Given the description of an element on the screen output the (x, y) to click on. 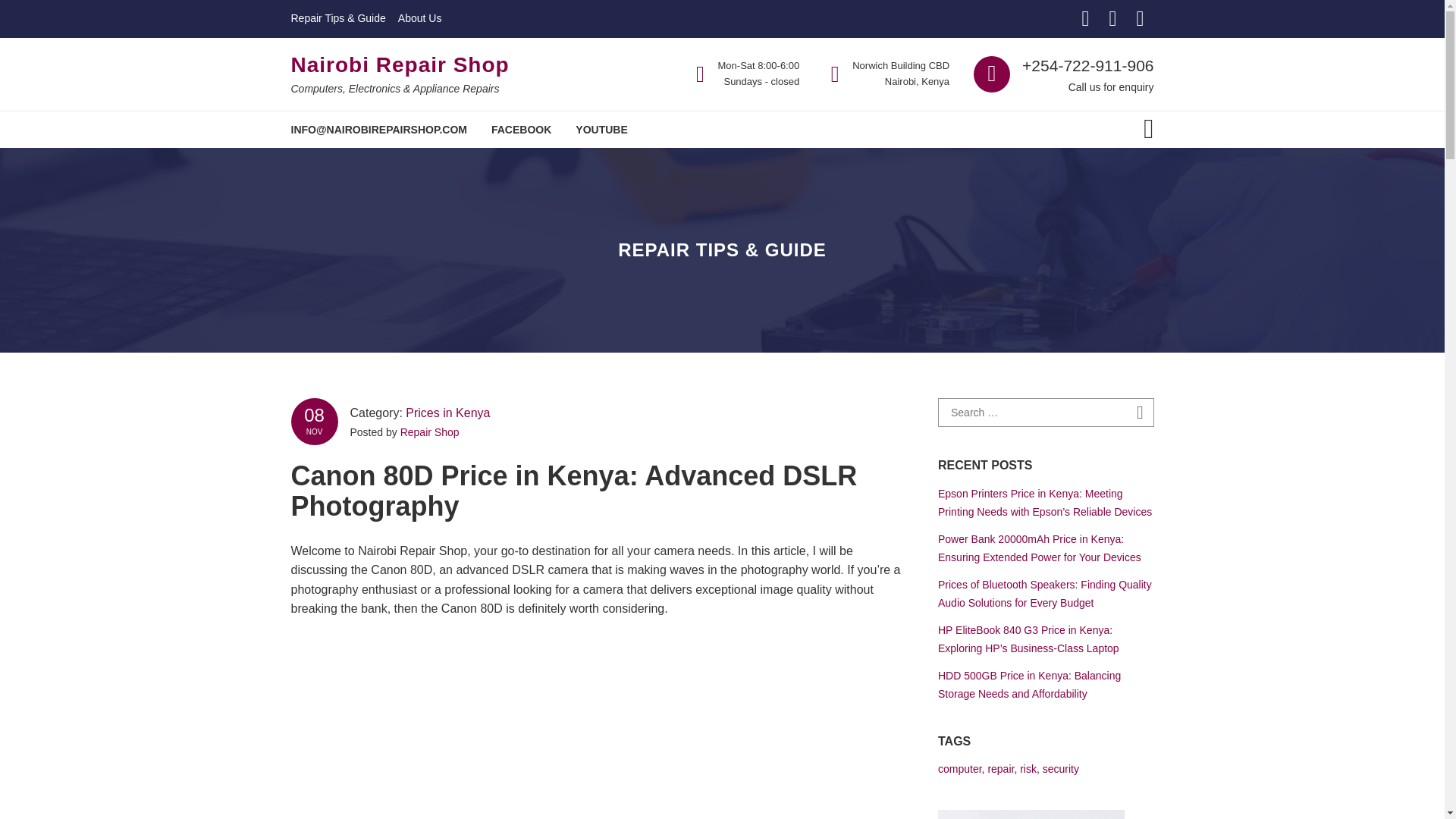
Search (1140, 412)
Canon 80D for Wildlife Photography - REVIEW (601, 724)
YOUTUBE (601, 129)
risk (1028, 768)
Nairobi Repair Shop (400, 64)
repair (1000, 768)
Posts by Repair Shop (430, 431)
